Given the description of an element on the screen output the (x, y) to click on. 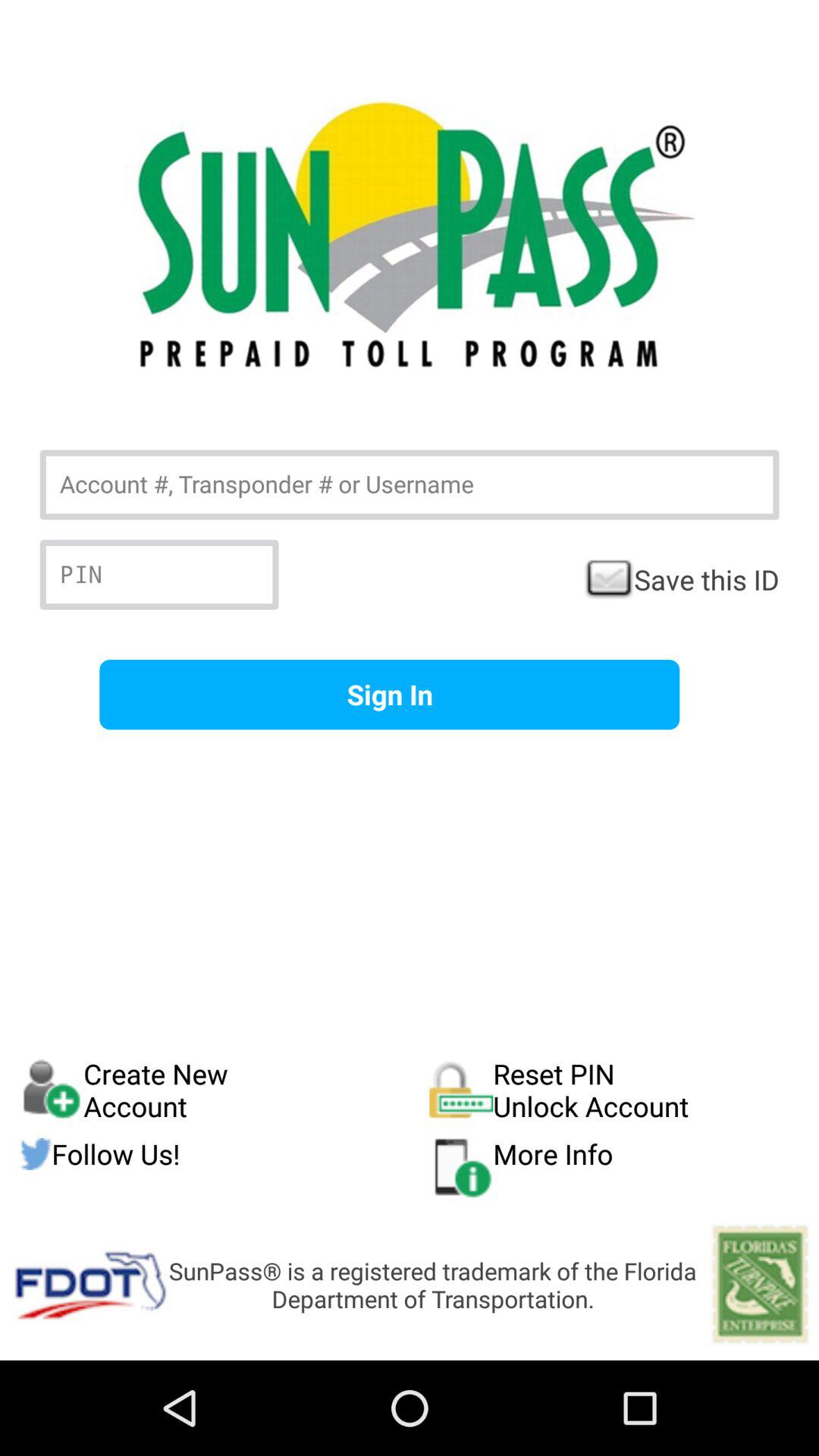
turn on the create new
account item (224, 1089)
